Given the description of an element on the screen output the (x, y) to click on. 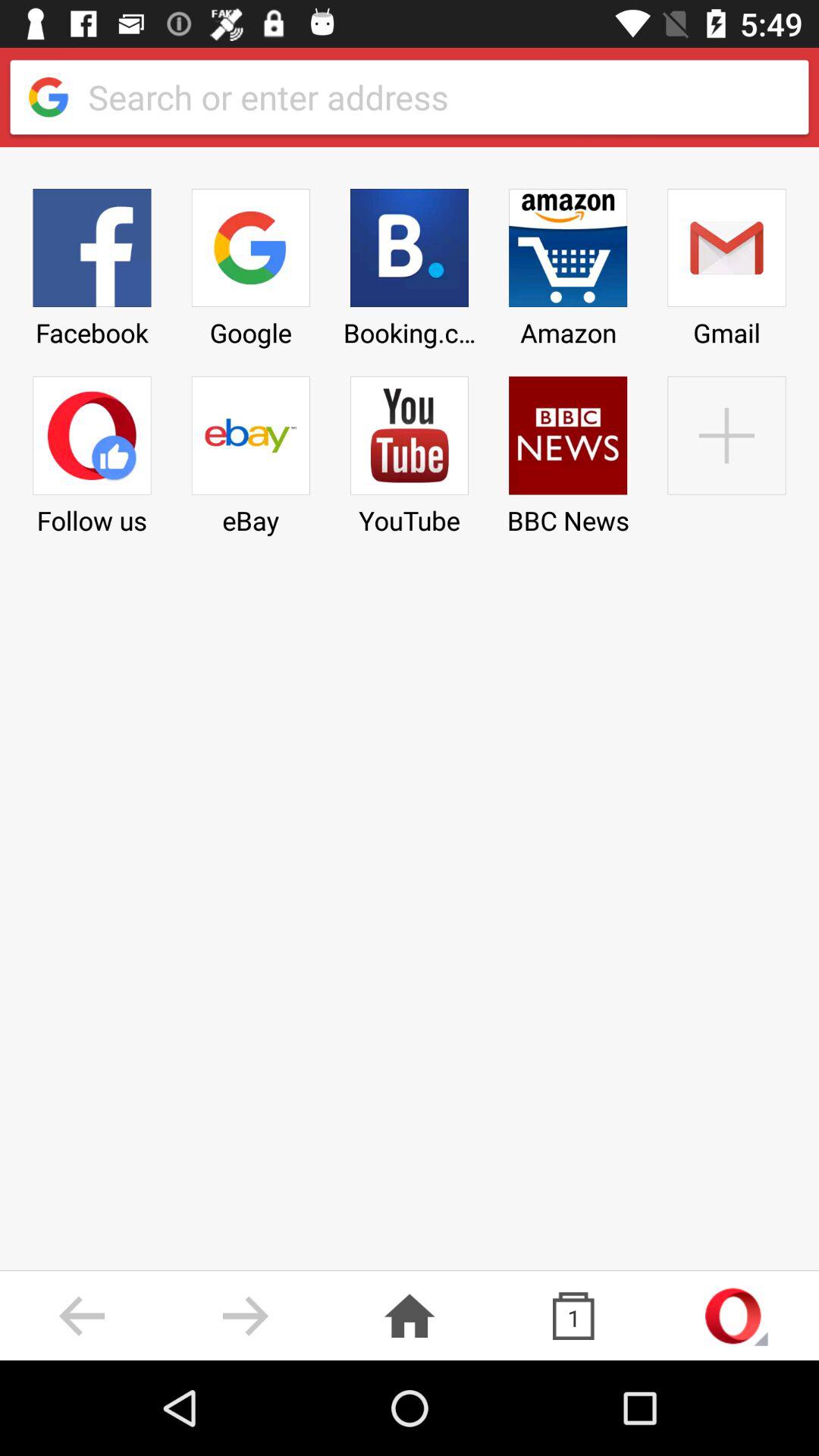
add new (726, 450)
